Given the description of an element on the screen output the (x, y) to click on. 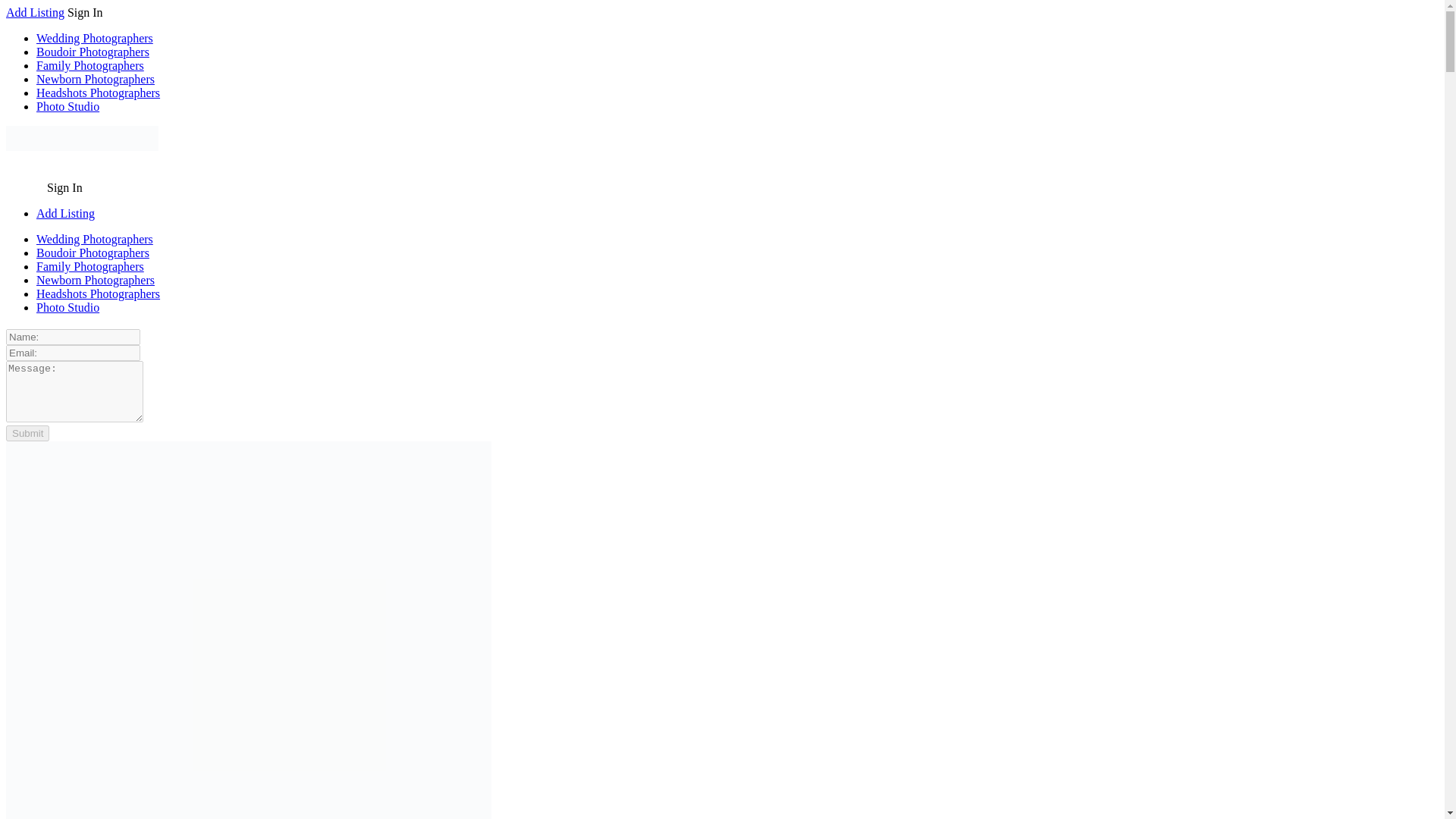
Wedding Photographers (94, 238)
Sign In (84, 11)
Sign In (64, 187)
Photo Studio (67, 307)
Wedding Photographers (94, 38)
Headshots Photographers (98, 92)
Photo Studio (67, 106)
Submit (27, 433)
Headshots Photographers (98, 293)
Add Listing (65, 213)
Newborn Photographers (95, 279)
Submit (27, 433)
Family Photographers (90, 65)
Add Listing (34, 11)
Boudoir Photographers (92, 252)
